Given the description of an element on the screen output the (x, y) to click on. 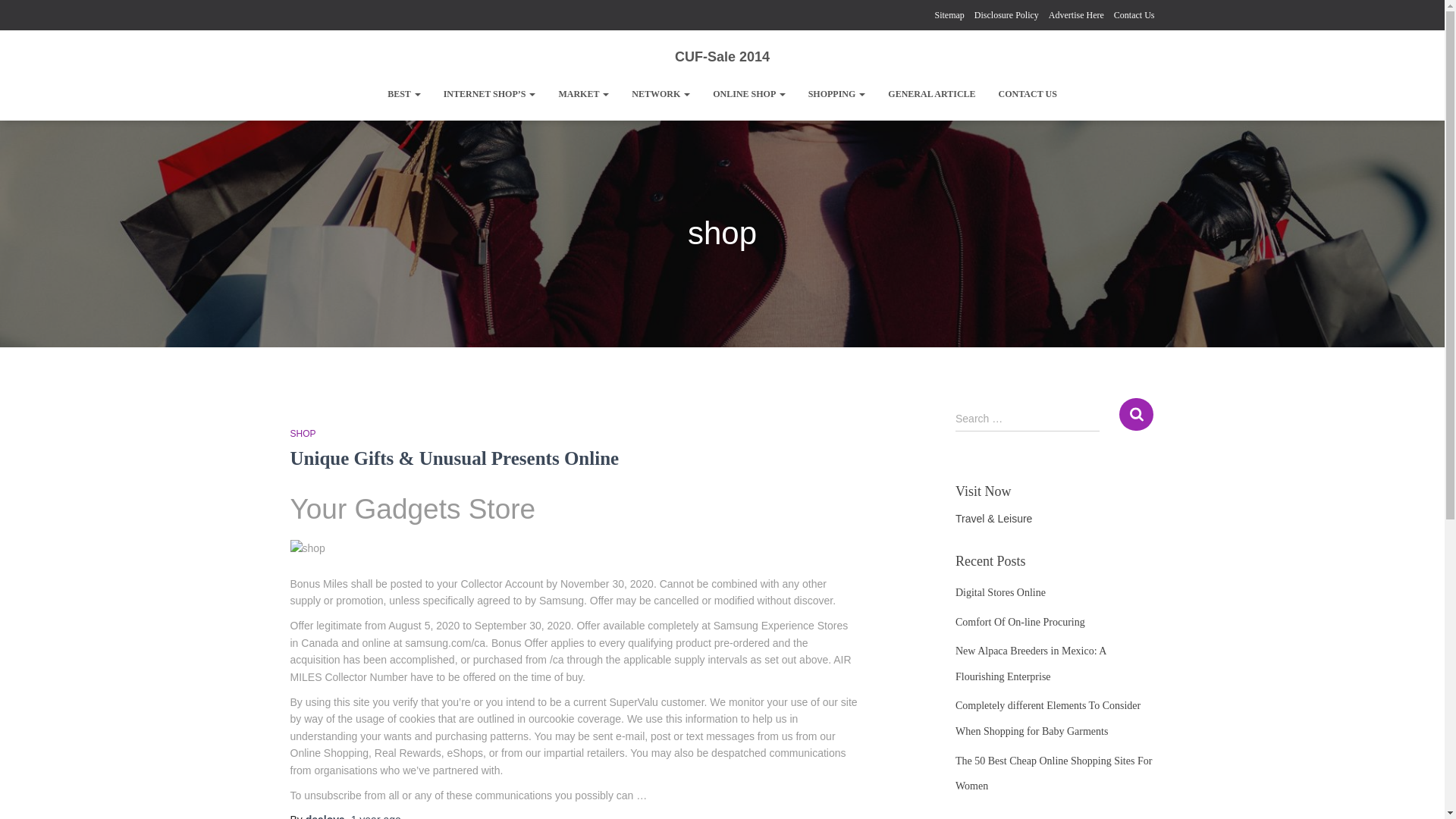
Market (583, 94)
NETWORK (660, 94)
Best (402, 94)
Sitemap (948, 15)
CUF-Sale 2014 (721, 56)
BEST (402, 94)
SHOP (302, 433)
CUF-Sale 2014 (721, 56)
Sitemap (948, 15)
ONLINE SHOP (748, 94)
